Given the description of an element on the screen output the (x, y) to click on. 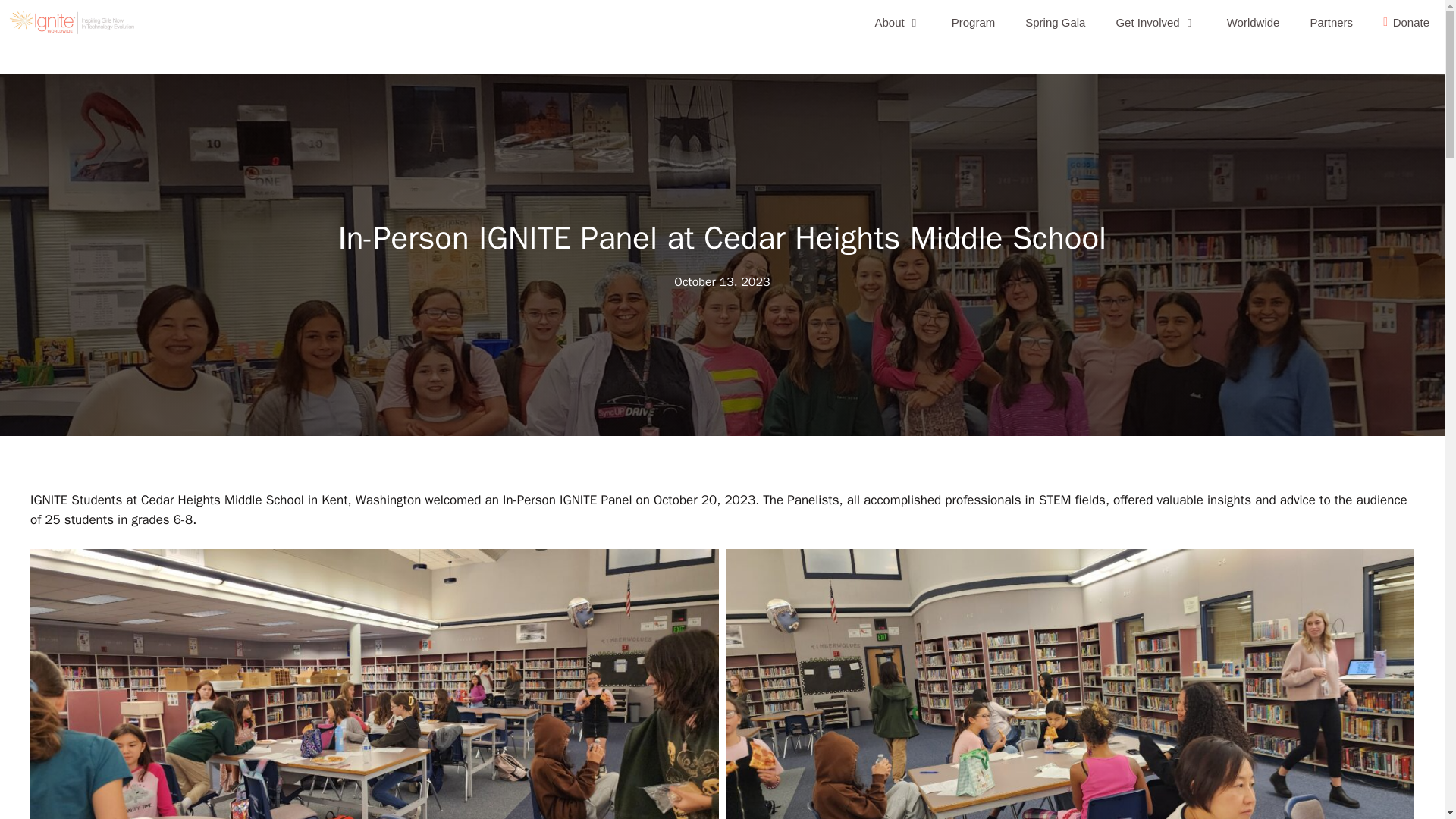
Get Involved (1155, 22)
Program (973, 22)
IGNITE Worldwide (75, 22)
About (898, 22)
IGNITE Worldwide (71, 22)
Spring Gala (1055, 22)
